Given the description of an element on the screen output the (x, y) to click on. 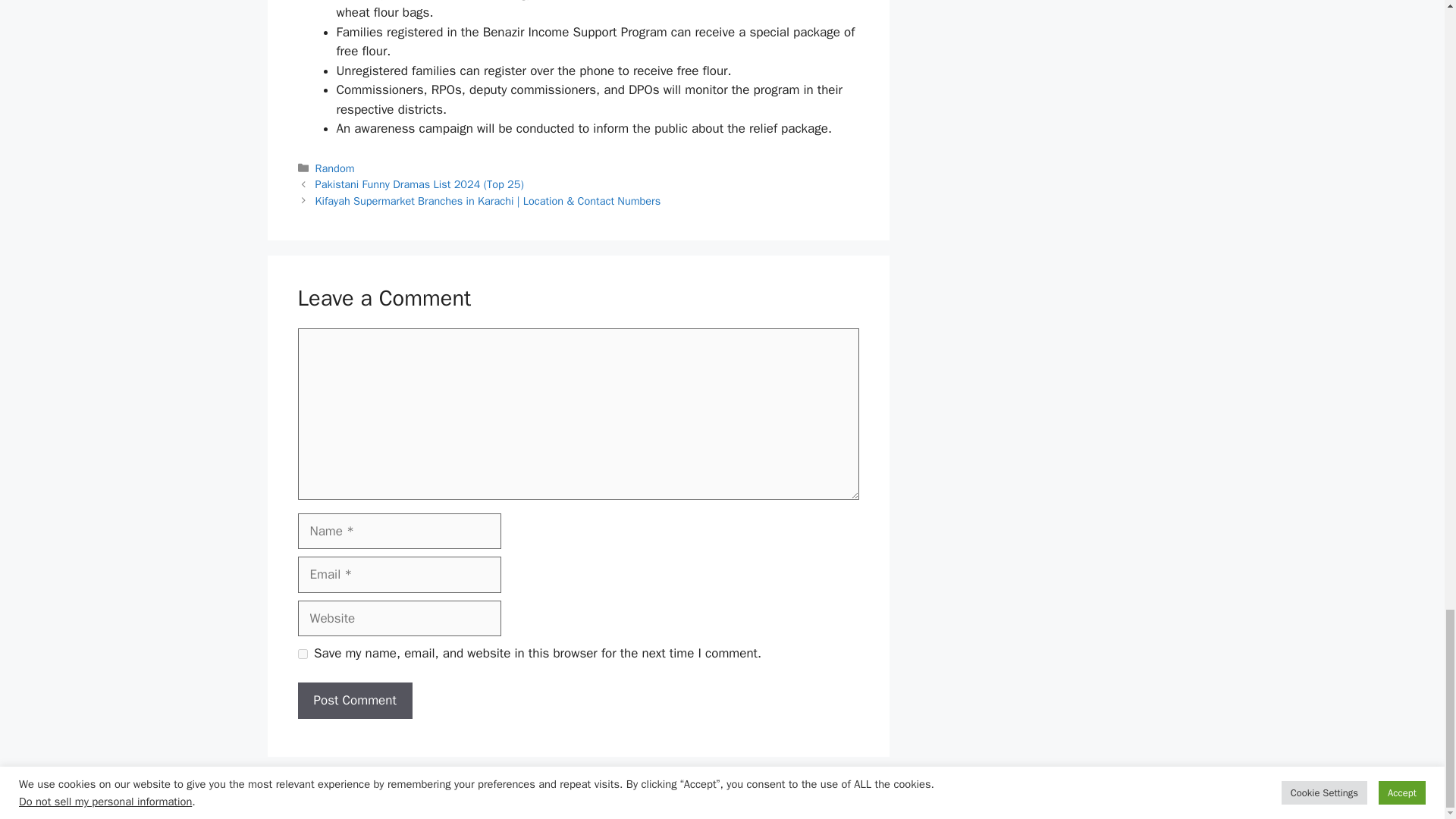
Privacy Policy (863, 795)
Random (335, 168)
yes (302, 654)
Contact Us (1119, 795)
Home (740, 795)
About Us (792, 795)
Post Comment (354, 700)
GeneratePress (510, 795)
Disclaimer (937, 795)
Post Comment (354, 700)
